Given the description of an element on the screen output the (x, y) to click on. 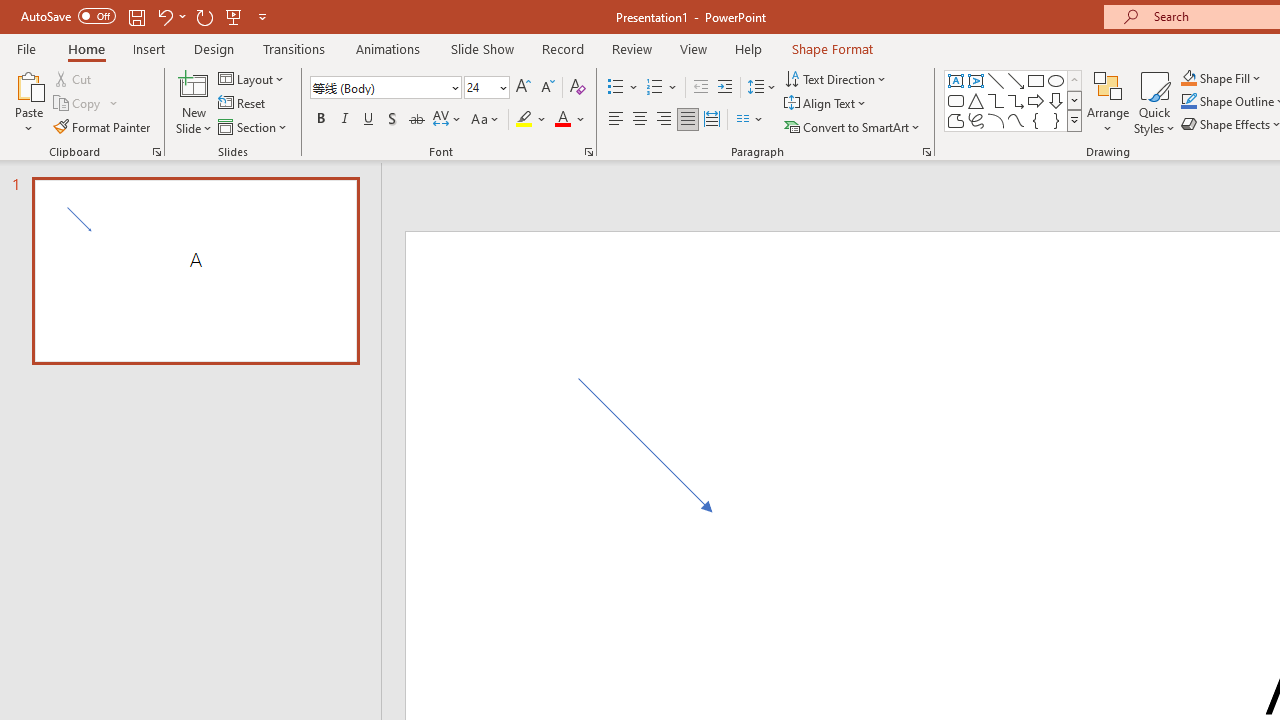
Shape Outline Blue, Accent 1 (1188, 101)
